Given the description of an element on the screen output the (x, y) to click on. 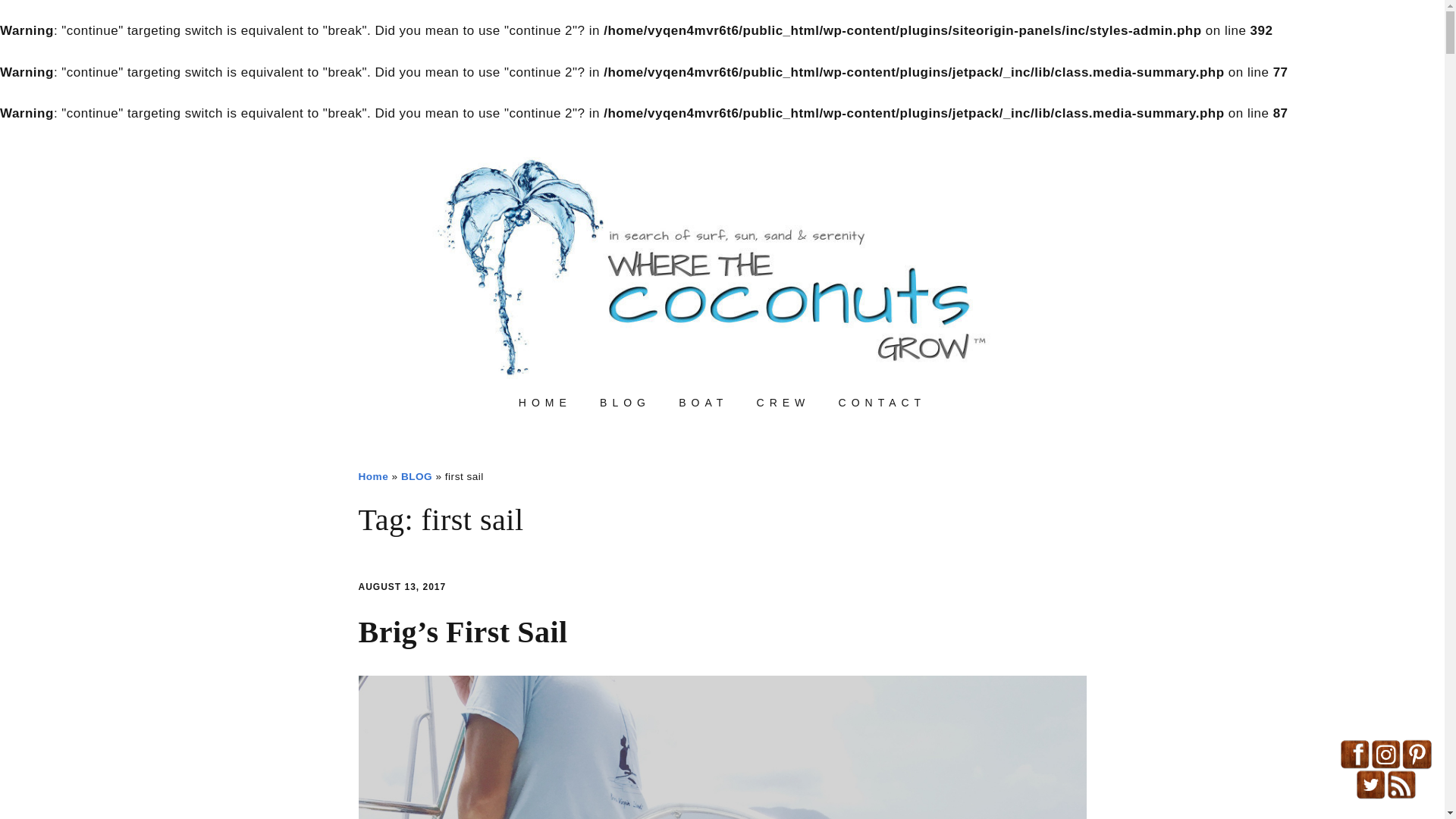
CONTACT (883, 403)
BLOG (625, 403)
HOME (544, 403)
Home (373, 476)
BOAT (702, 403)
CREW (783, 403)
AUGUST 13, 2017 (401, 586)
Visit Us On Facebook (1354, 765)
BLOG (416, 476)
